Given the description of an element on the screen output the (x, y) to click on. 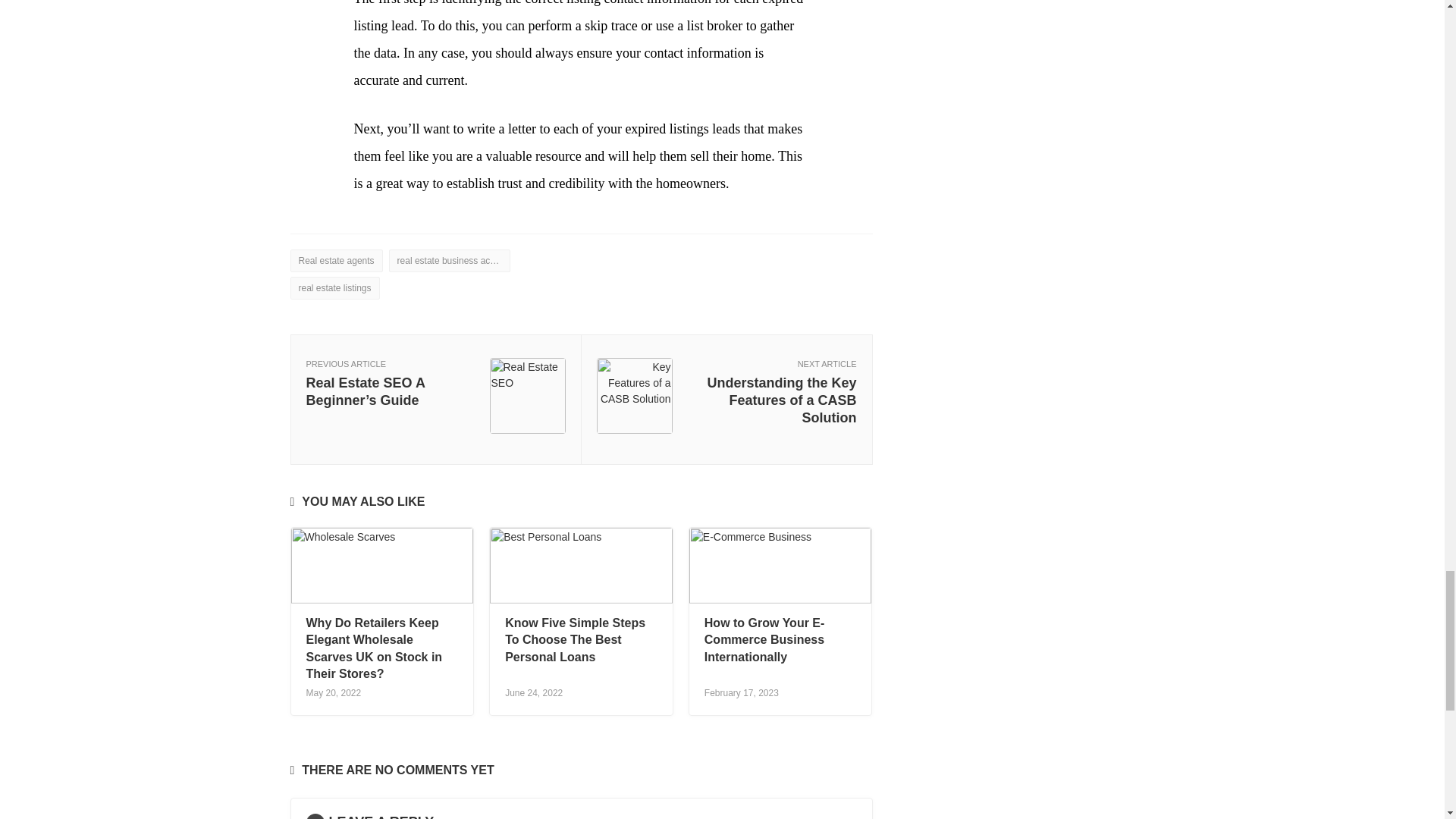
Real estate agents (335, 260)
real estate listings (333, 287)
View all posts in Real estate agents (335, 260)
View all posts in real estate listings (333, 287)
real estate business activities (449, 260)
How to Grow Your E-Commerce Business Internationally (764, 639)
Know Five Simple Steps To Choose The Best Personal Loans (575, 639)
View all posts in real estate business activities (449, 260)
